Given the description of an element on the screen output the (x, y) to click on. 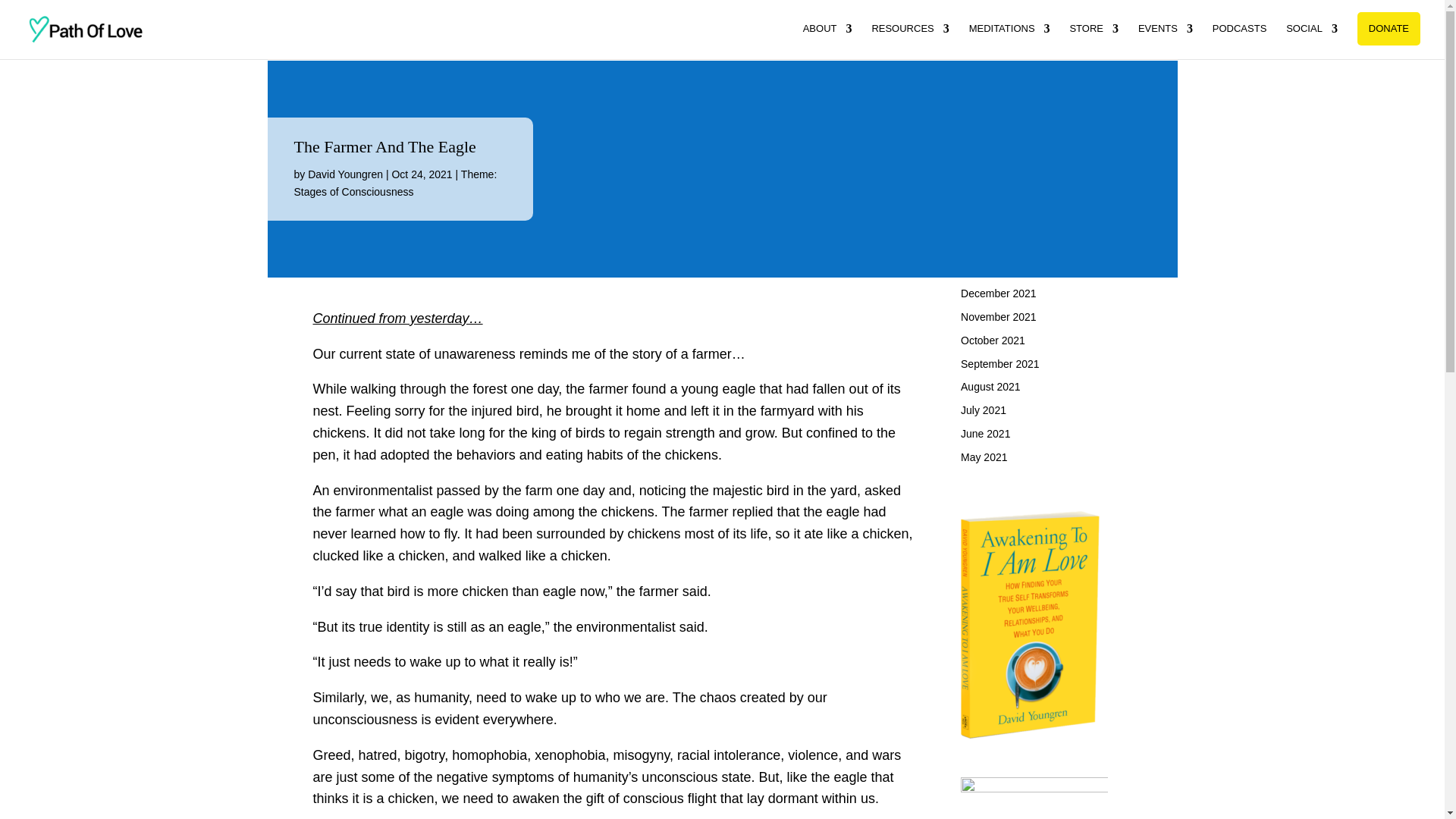
STORE (1093, 40)
MEDITATIONS (1009, 40)
November 2021 (998, 316)
ABOUT (827, 40)
Posts by David Youngren (344, 174)
David Youngren (344, 174)
Theme: Stages of Consciousness (395, 183)
October 2021 (992, 340)
September 2021 (999, 363)
PODCASTS (1239, 40)
EVENTS (1165, 40)
DONATE (1388, 28)
December 2021 (998, 293)
SOCIAL (1311, 40)
RESOURCES (909, 40)
